Given the description of an element on the screen output the (x, y) to click on. 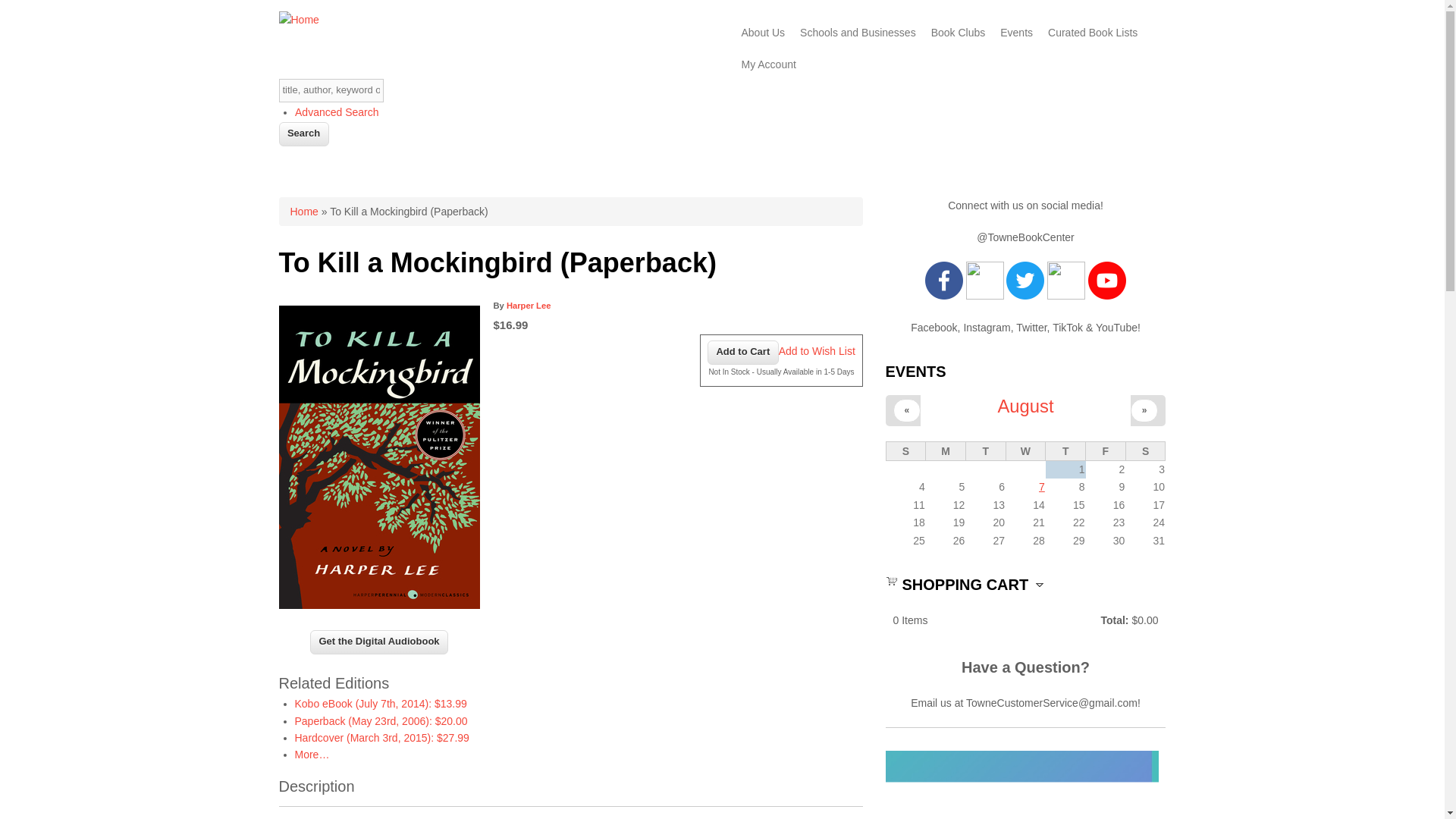
View your shopping cart. (891, 580)
My Account (768, 64)
Book Clubs (957, 32)
Add to Wish List (817, 350)
Curated Book Lists (1092, 32)
Navigate to next month (1144, 410)
Add to Cart (742, 352)
Add to Cart (742, 352)
Home (303, 211)
View full page month (1024, 405)
Events (1016, 32)
Enter the terms you wish to search for. (331, 90)
Navigate to previous month (907, 410)
Advanced Search (336, 111)
Harper Lee (528, 305)
